Given the description of an element on the screen output the (x, y) to click on. 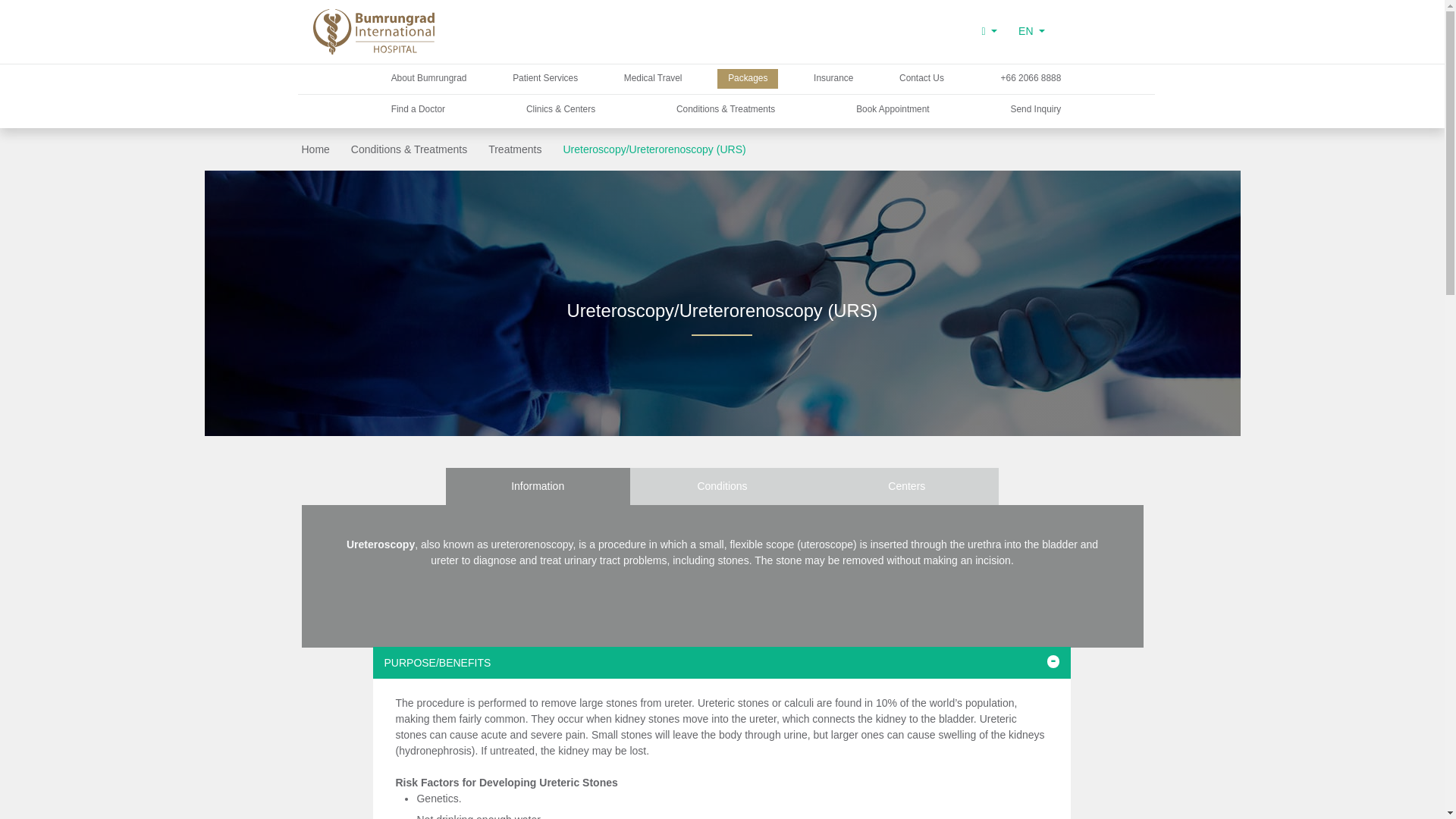
EN (1031, 31)
Patient Services (545, 78)
About Bumrungrad (428, 78)
